Given the description of an element on the screen output the (x, y) to click on. 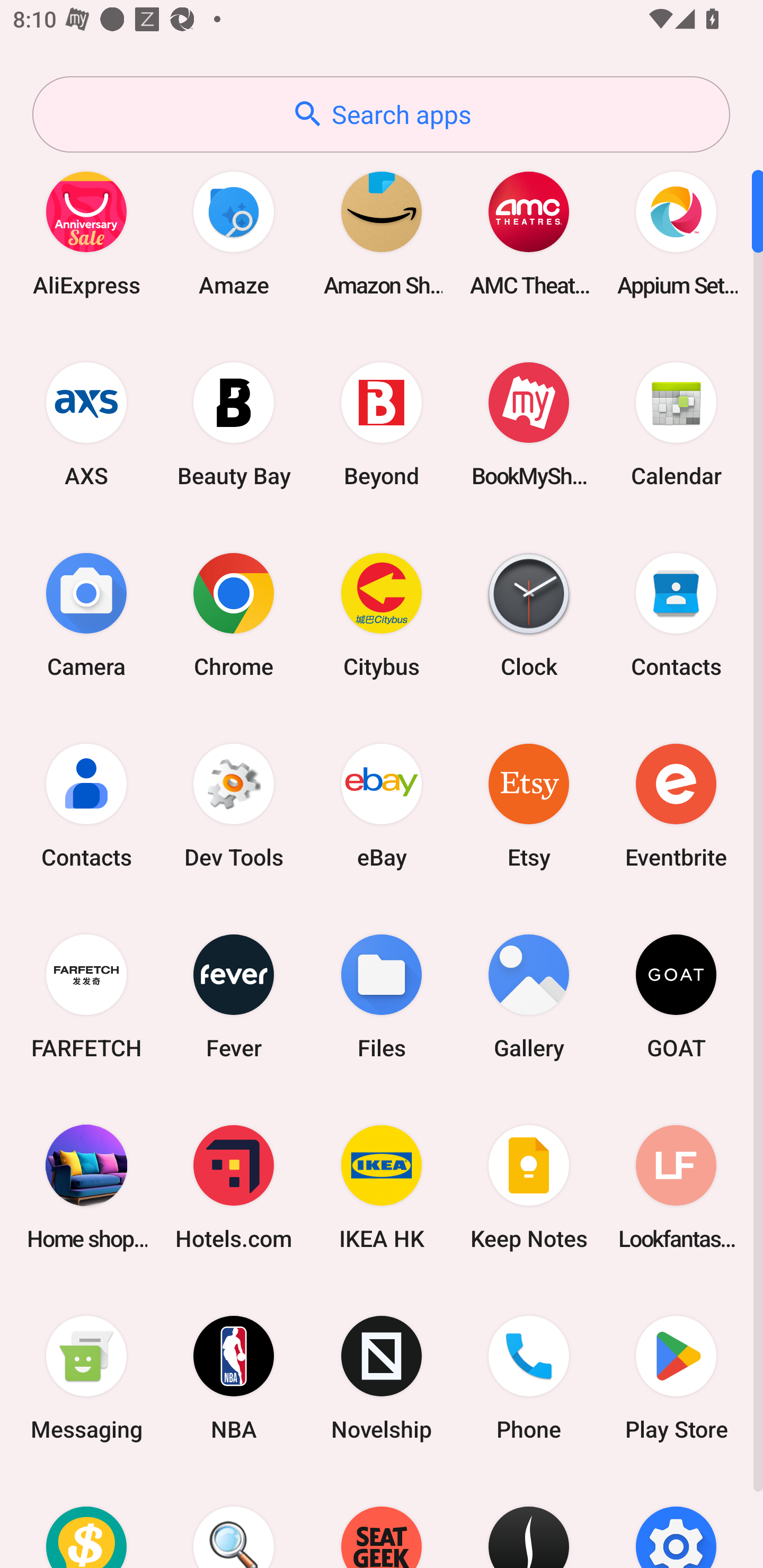
  Search apps (381, 114)
AliExpress (86, 233)
Amaze (233, 233)
Amazon Shopping (381, 233)
AMC Theatres (528, 233)
Appium Settings (676, 233)
AXS (86, 424)
Beauty Bay (233, 424)
Beyond (381, 424)
BookMyShow (528, 424)
Calendar (676, 424)
Camera (86, 614)
Chrome (233, 614)
Citybus (381, 614)
Clock (528, 614)
Contacts (676, 614)
Contacts (86, 805)
Dev Tools (233, 805)
eBay (381, 805)
Etsy (528, 805)
Eventbrite (676, 805)
FARFETCH (86, 996)
Fever (233, 996)
Files (381, 996)
Gallery (528, 996)
GOAT (676, 996)
Home shopping (86, 1186)
Hotels.com (233, 1186)
IKEA HK (381, 1186)
Keep Notes (528, 1186)
Lookfantastic (676, 1186)
Messaging (86, 1377)
NBA (233, 1377)
Novelship (381, 1377)
Phone (528, 1377)
Play Store (676, 1377)
